Given the description of an element on the screen output the (x, y) to click on. 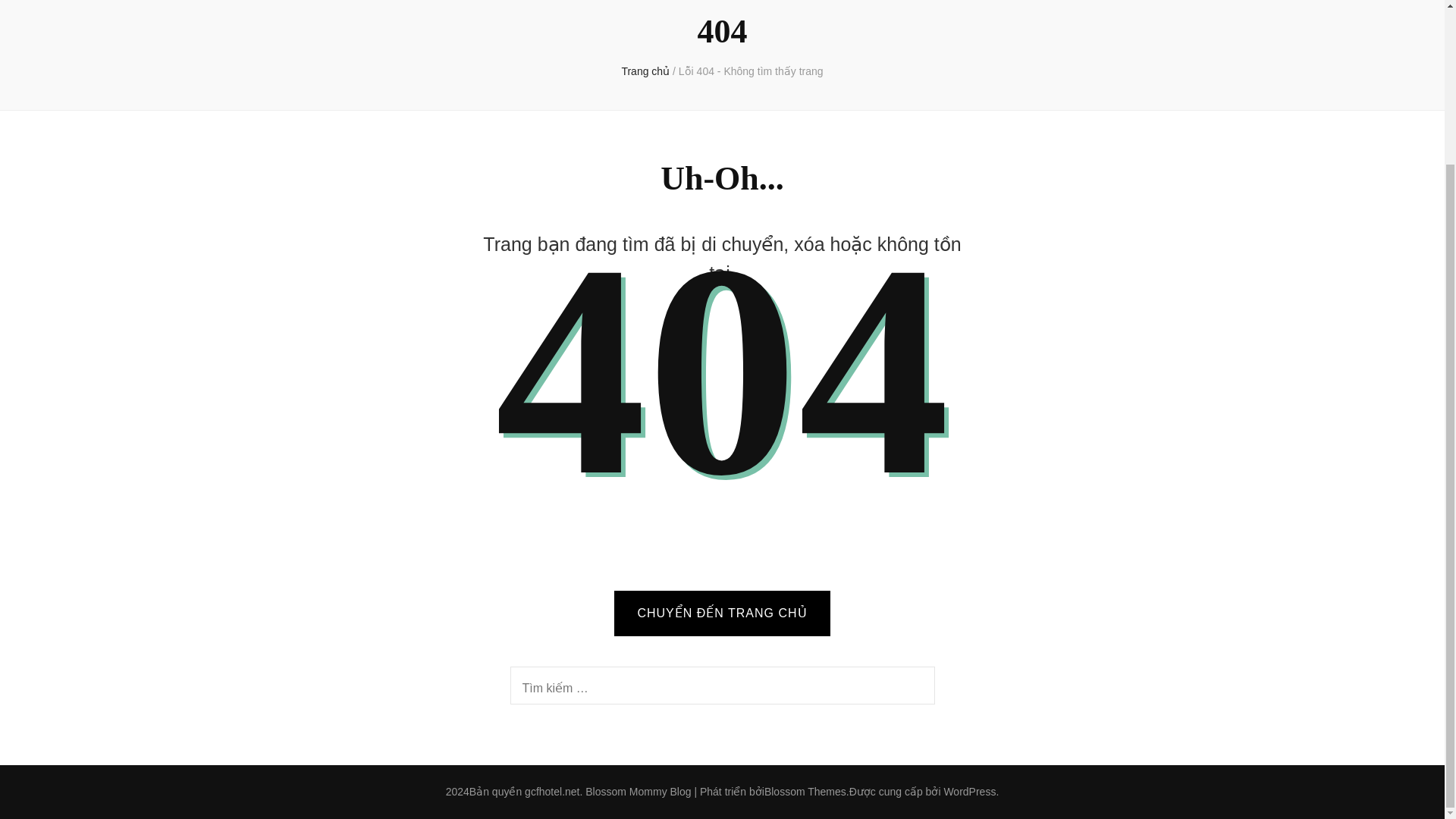
gcfhotel.net (552, 791)
WordPress (966, 791)
Blossom Themes (803, 791)
